Given the description of an element on the screen output the (x, y) to click on. 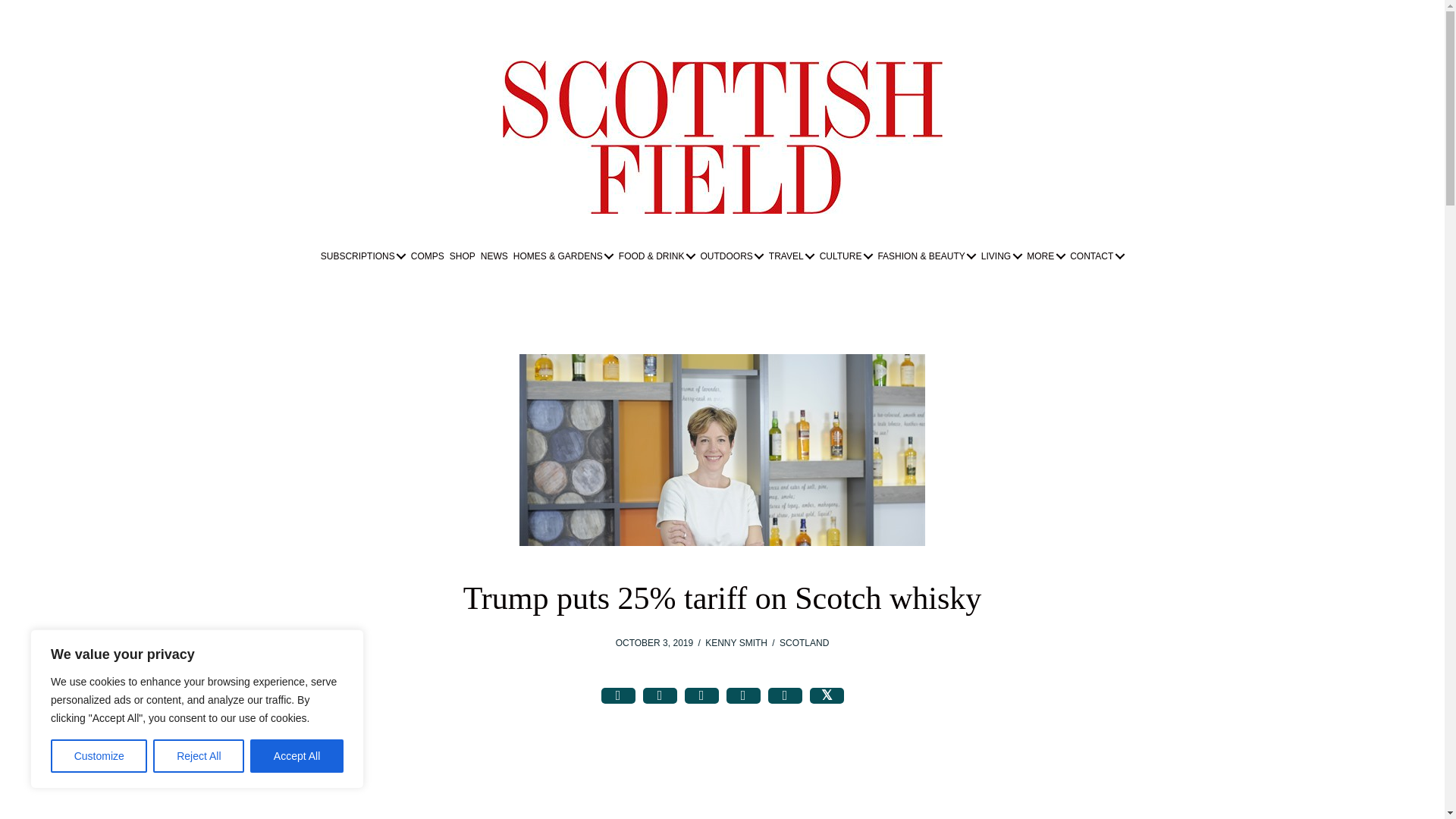
3rd party ad content (722, 803)
Scottish Field Lifestyle Magazine (722, 136)
NEWS (495, 255)
COMPS (427, 255)
Accept All (296, 756)
Customize (98, 756)
SHOP (461, 255)
SUBSCRIPTIONS (362, 255)
OUTDOORS (731, 255)
Reject All (198, 756)
